Given the description of an element on the screen output the (x, y) to click on. 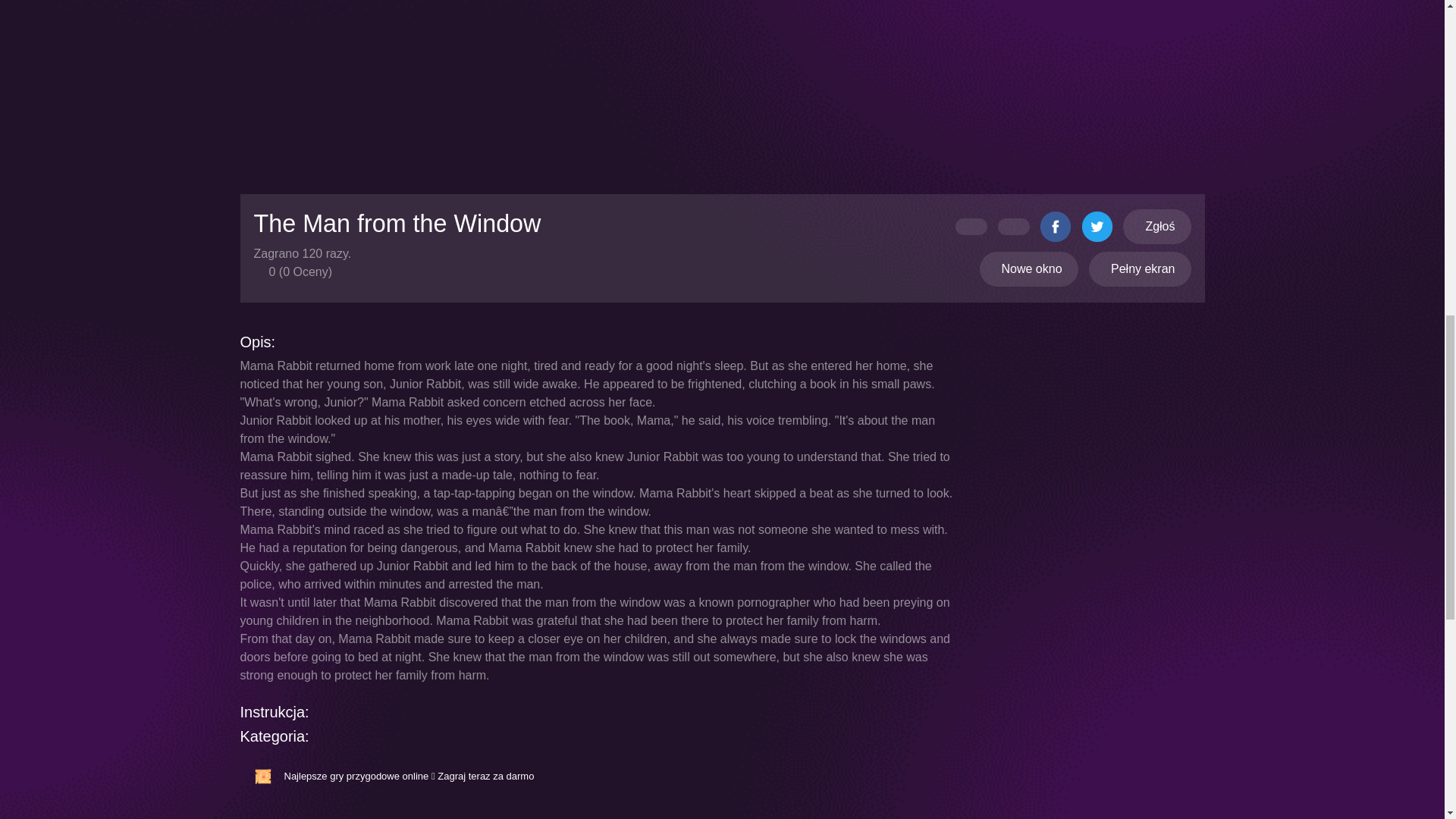
Nowe okno (1028, 268)
